Given the description of an element on the screen output the (x, y) to click on. 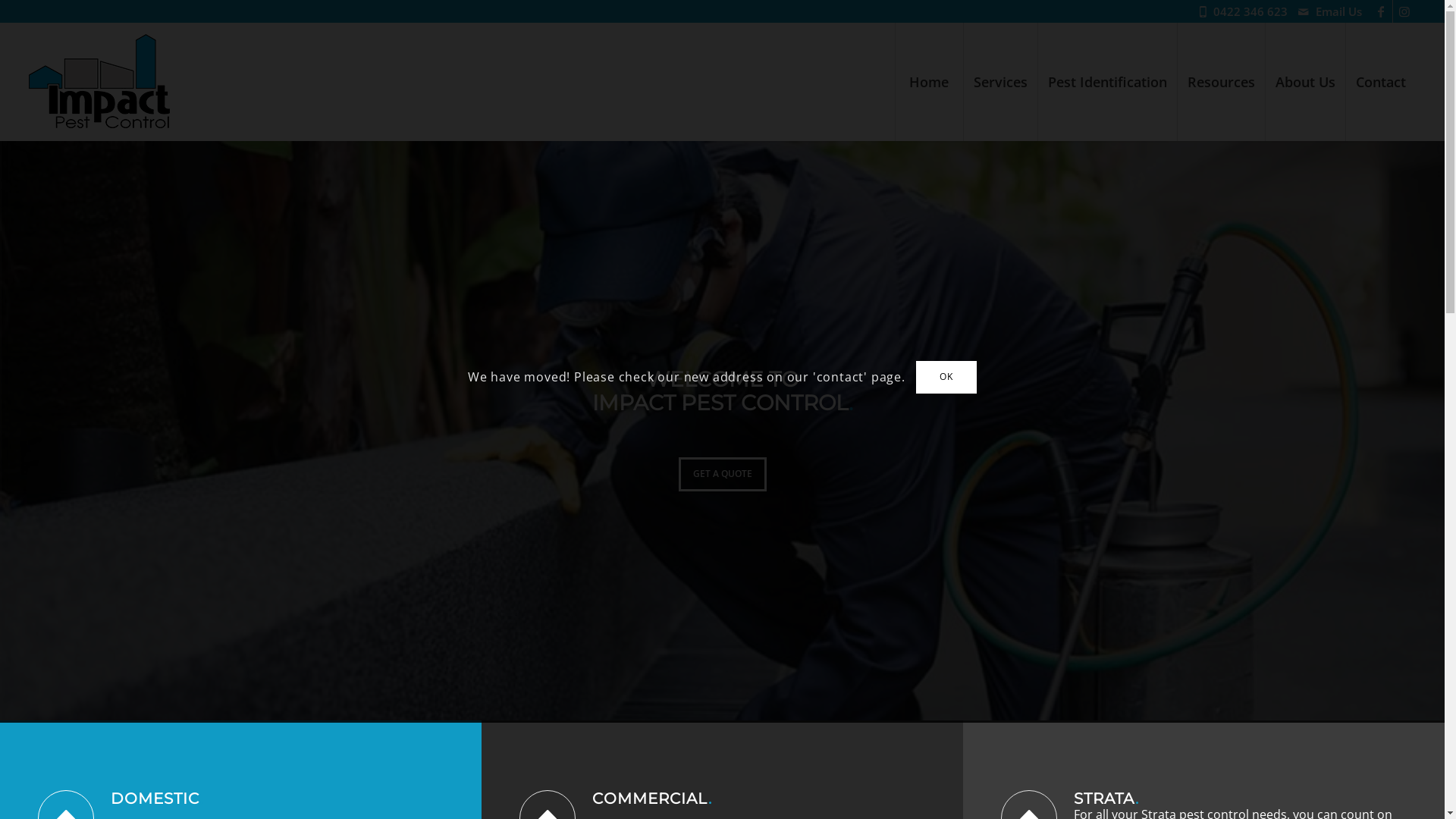
COMMERCIAL. Element type: text (652, 798)
STRATA. Element type: text (1106, 798)
Email Us Element type: text (1338, 10)
Resources Element type: text (1220, 81)
Instagram Element type: hover (1404, 11)
Contact Element type: text (1380, 81)
OK Element type: text (946, 376)
Services Element type: text (1000, 81)
Facebook Element type: hover (1381, 11)
DOMESTIC. Element type: text (156, 798)
impact-logo Element type: hover (98, 80)
Pest Identification Element type: text (1106, 81)
main Element type: hover (722, 430)
Home Element type: text (928, 81)
GET A QUOTE Element type: text (721, 473)
About Us Element type: text (1304, 81)
0422 346 623 Element type: text (1254, 10)
